Given the description of an element on the screen output the (x, y) to click on. 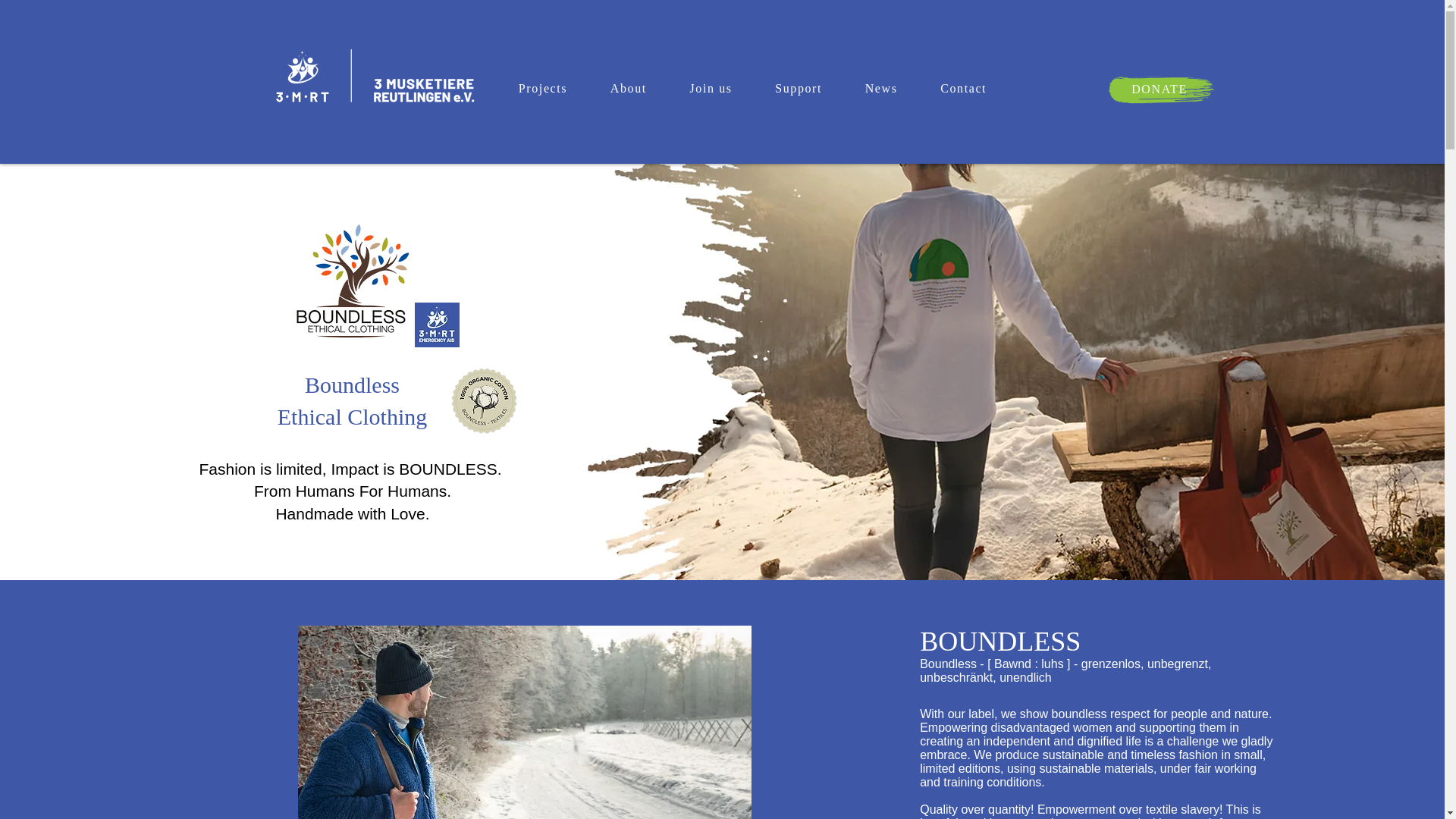
About (628, 88)
News (880, 88)
Join us (710, 88)
Contact (963, 88)
Support (798, 88)
Projects (542, 88)
DONATE (1160, 89)
